Given the description of an element on the screen output the (x, y) to click on. 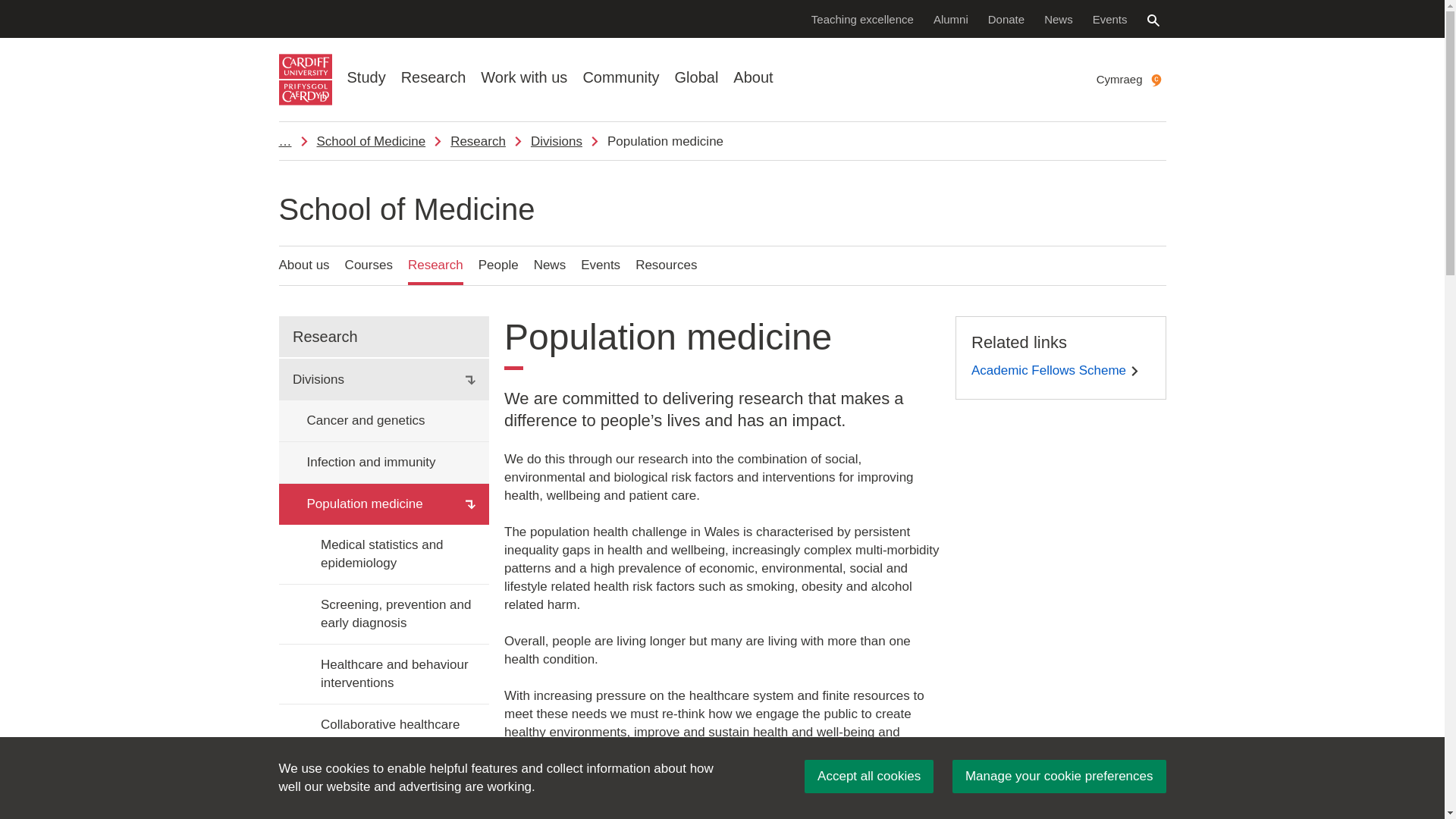
Teaching excellence (862, 19)
Alumni (951, 19)
Chevron right (1134, 370)
Cardiff University logo (305, 79)
Events (1109, 19)
News (1058, 19)
Manage your cookie preferences (1059, 776)
Search (1152, 20)
Donate (1005, 19)
cymraeg (1155, 80)
Cardiff University logo (305, 79)
Accept all cookies (869, 776)
